Given the description of an element on the screen output the (x, y) to click on. 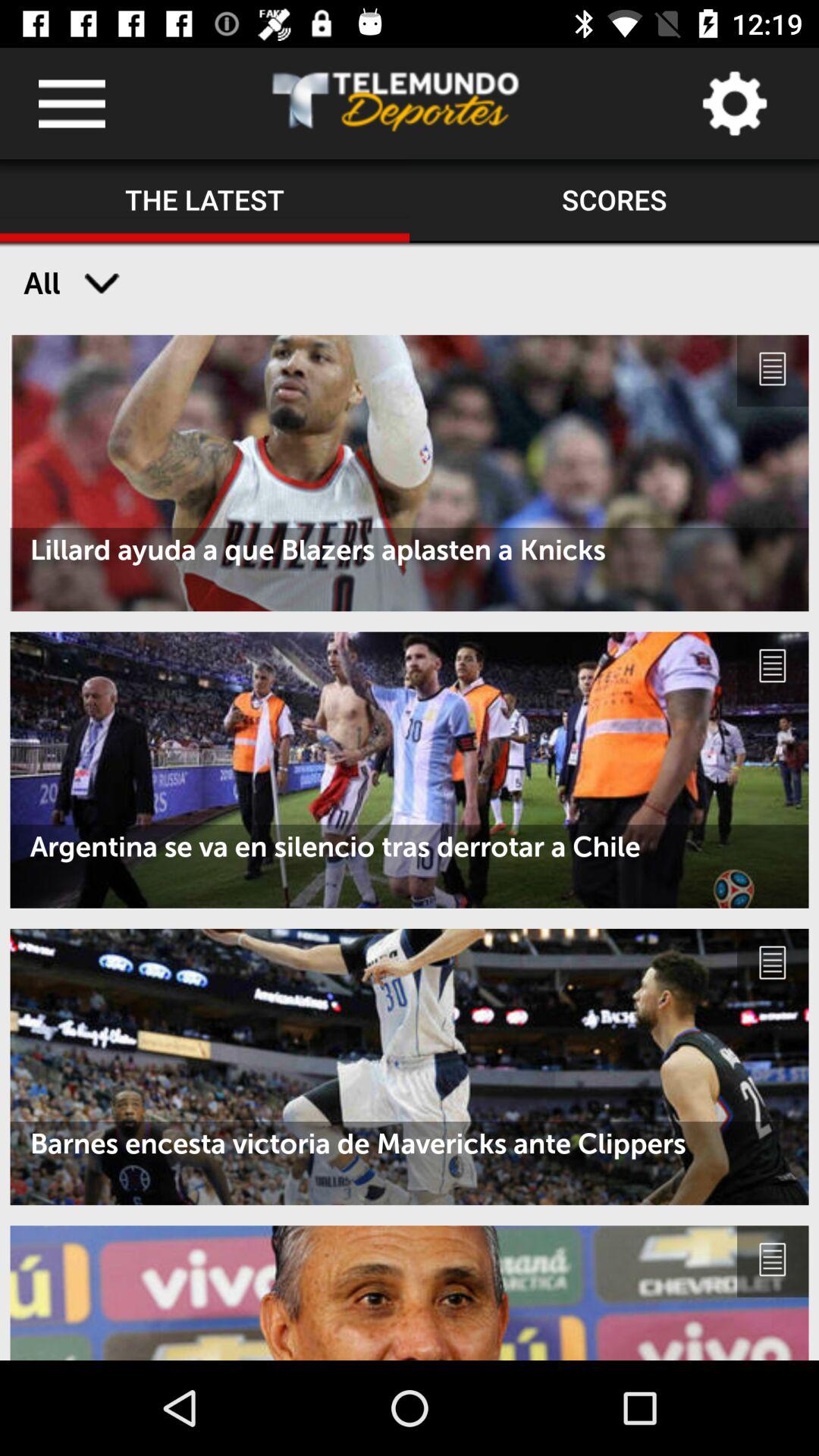
press the icon above the scores item (734, 103)
